Given the description of an element on the screen output the (x, y) to click on. 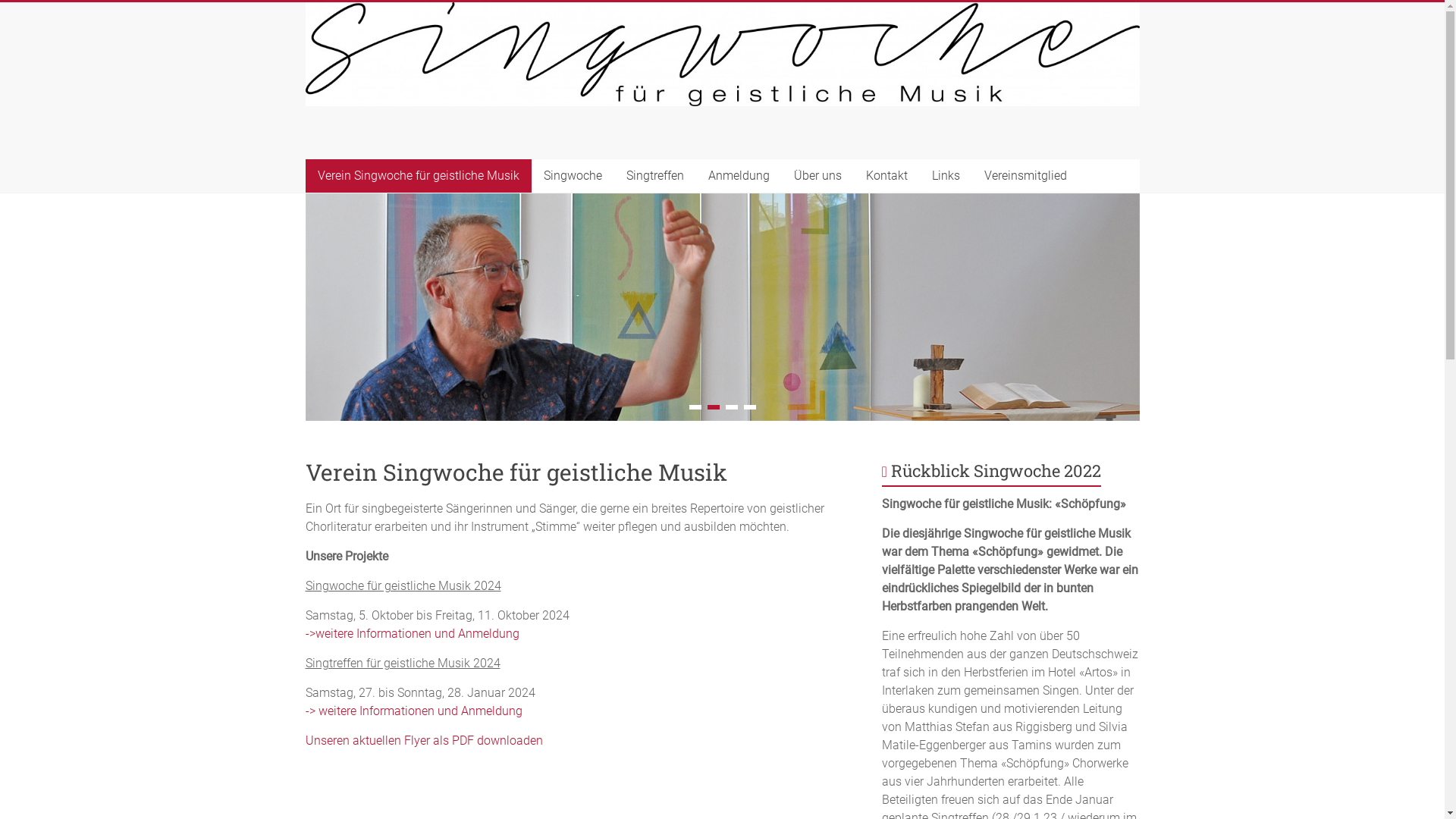
Links Element type: text (945, 175)
-> weitere Informationen und Anmeldung Element type: text (412, 710)
->weitere Informationen und Anmeldung Element type: text (411, 633)
Chorwoche Element type: text (378, 149)
Vereinsmitglied Element type: text (1025, 175)
Anmeldung Element type: text (738, 175)
Kontakt Element type: text (886, 175)
Singwoche Element type: text (571, 175)
Singtreffen Element type: text (655, 175)
Unseren aktuellen Flyer als PDF downloaden Element type: text (423, 740)
